Given the description of an element on the screen output the (x, y) to click on. 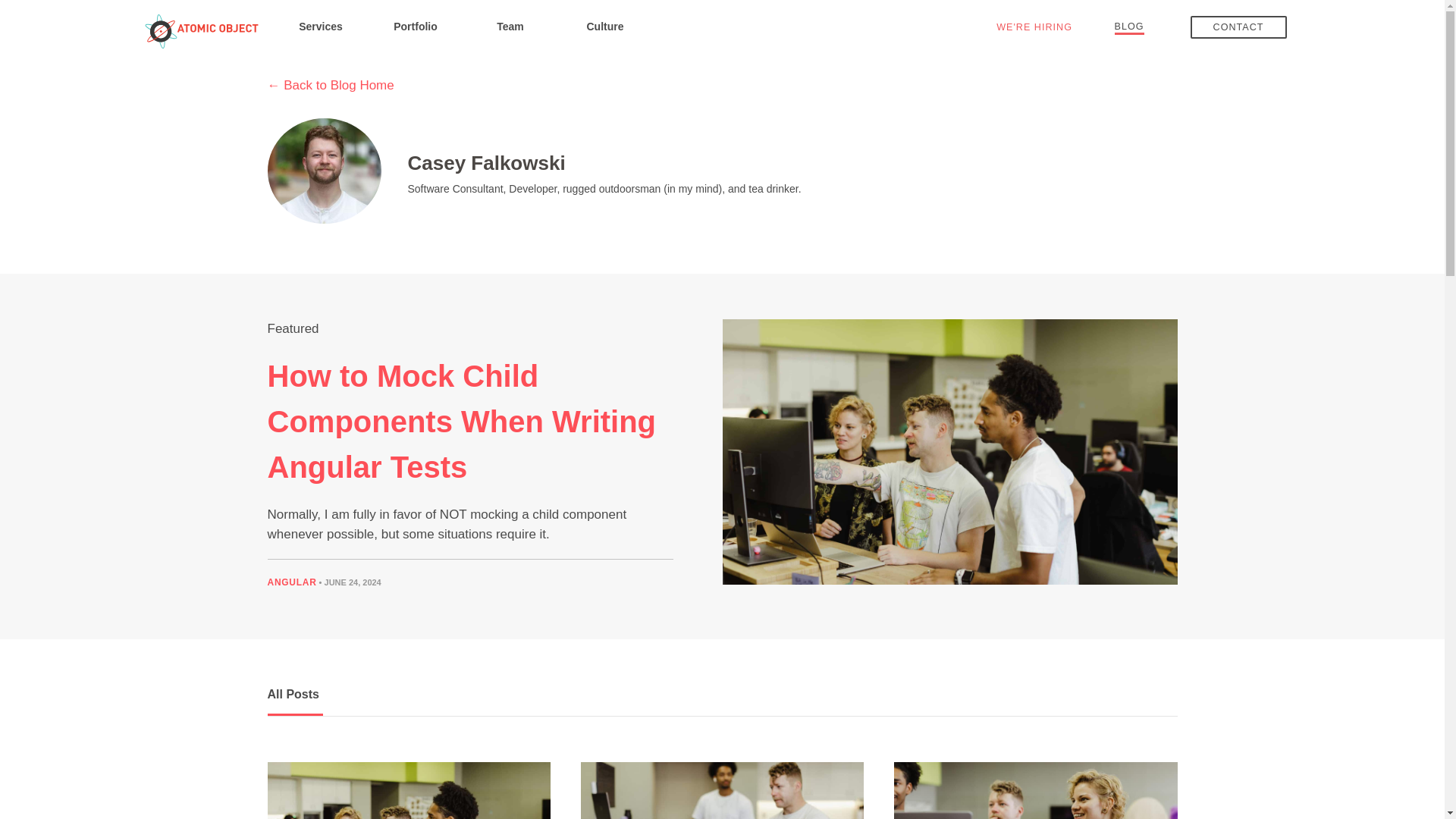
Services (320, 26)
Team (510, 26)
ANGULAR (290, 582)
CONTACT (1239, 26)
How to Mock Child Components When Writing Angular Tests (461, 421)
WE'RE HIRING (1033, 27)
Portfolio (415, 26)
BLOG (1129, 26)
Casey Falkowski (486, 164)
Culture (605, 26)
